Given the description of an element on the screen output the (x, y) to click on. 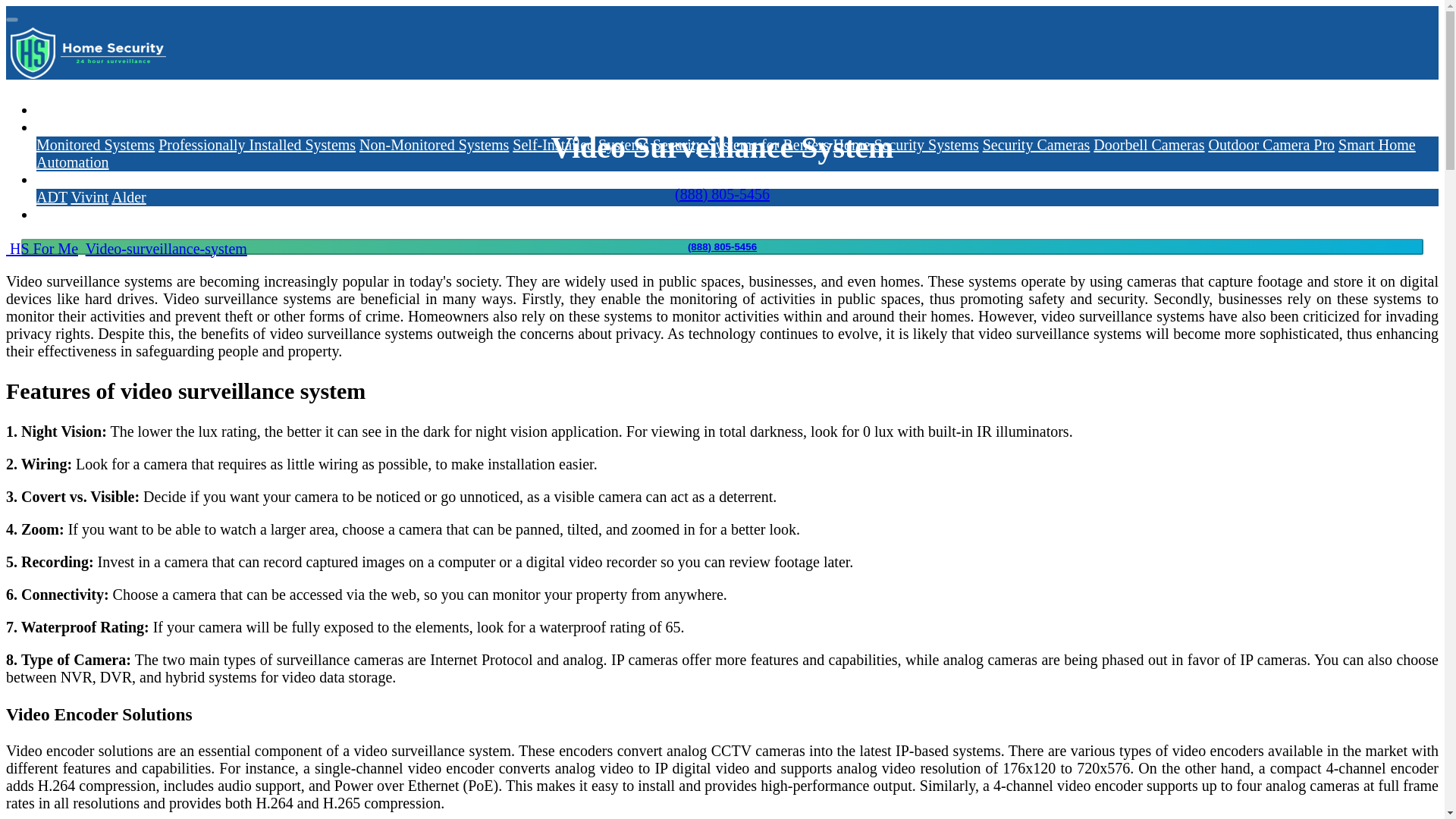
 HS For Me (41, 248)
ADT (51, 197)
System Type (75, 126)
Professionally Installed Systems (256, 144)
Home (55, 109)
Alder (129, 197)
Smart Home Automation (725, 153)
Doorbell Cameras (1148, 144)
Vivint (88, 197)
Self-Installed Systems (579, 144)
